Given the description of an element on the screen output the (x, y) to click on. 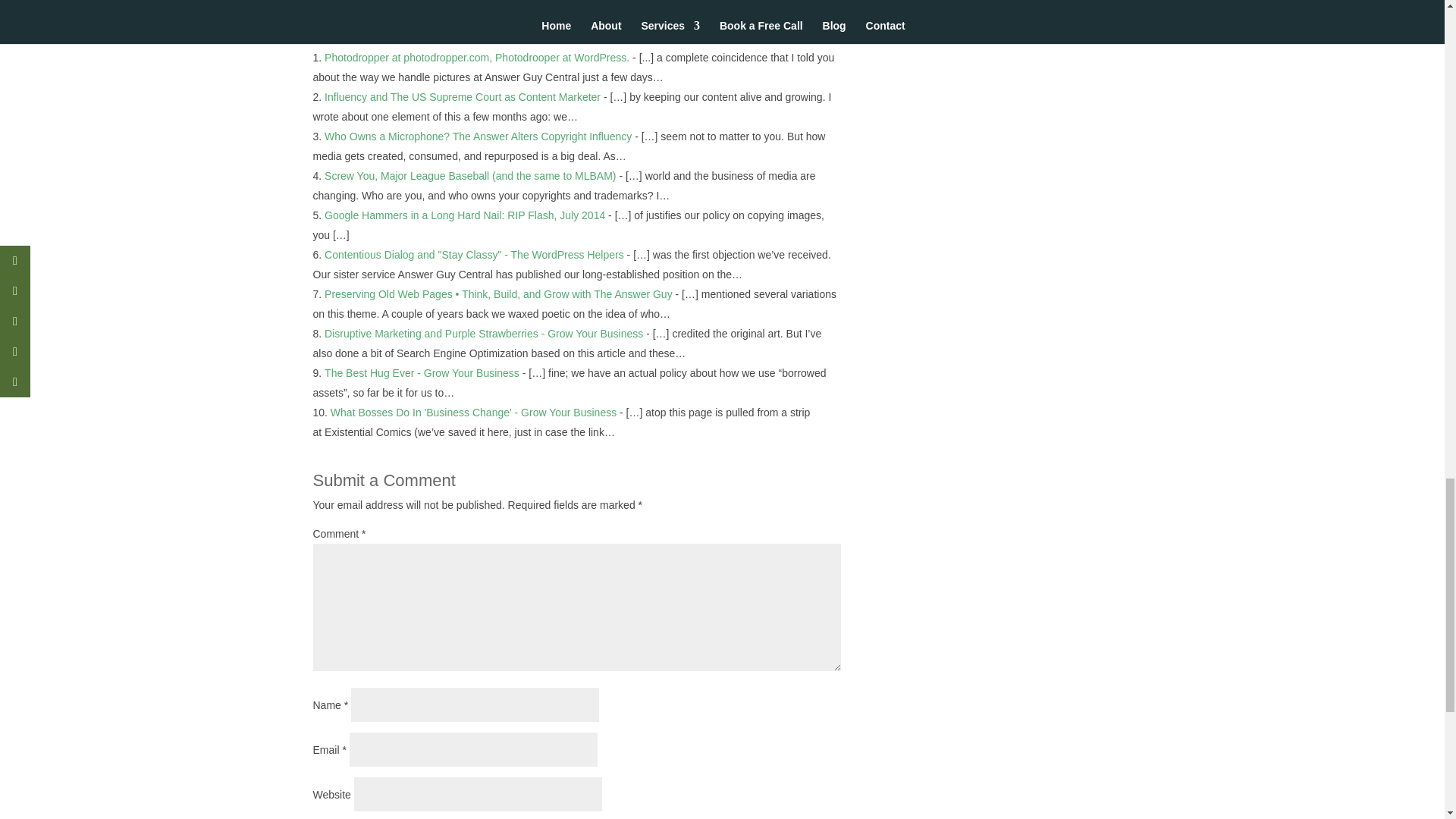
Google Hammers in a Long Hard Nail: RIP Flash, July 2014 (464, 215)
Who Owns a Microphone? The Answer Alters Copyright Influency (477, 136)
Influency and The US Supreme Court as Content Marketer (461, 96)
Photodropper at photodropper.com, Photodrooper at WordPress. (476, 57)
Contentious Dialog and "Stay Classy" - The WordPress Helpers (474, 254)
